Given the description of an element on the screen output the (x, y) to click on. 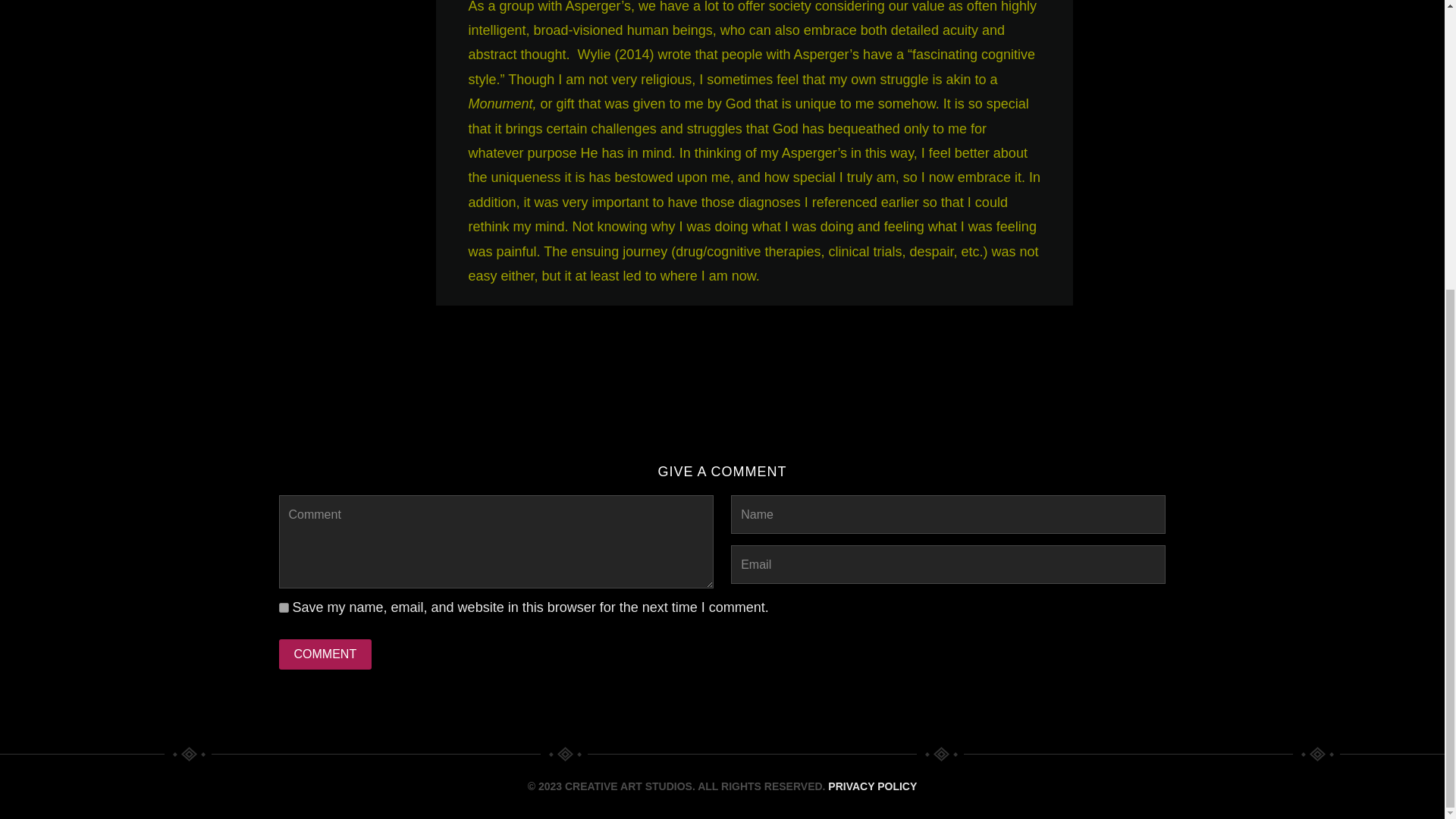
Comment (325, 654)
yes (283, 607)
PRIVACY POLICY (872, 786)
Comment (325, 654)
